Given the description of an element on the screen output the (x, y) to click on. 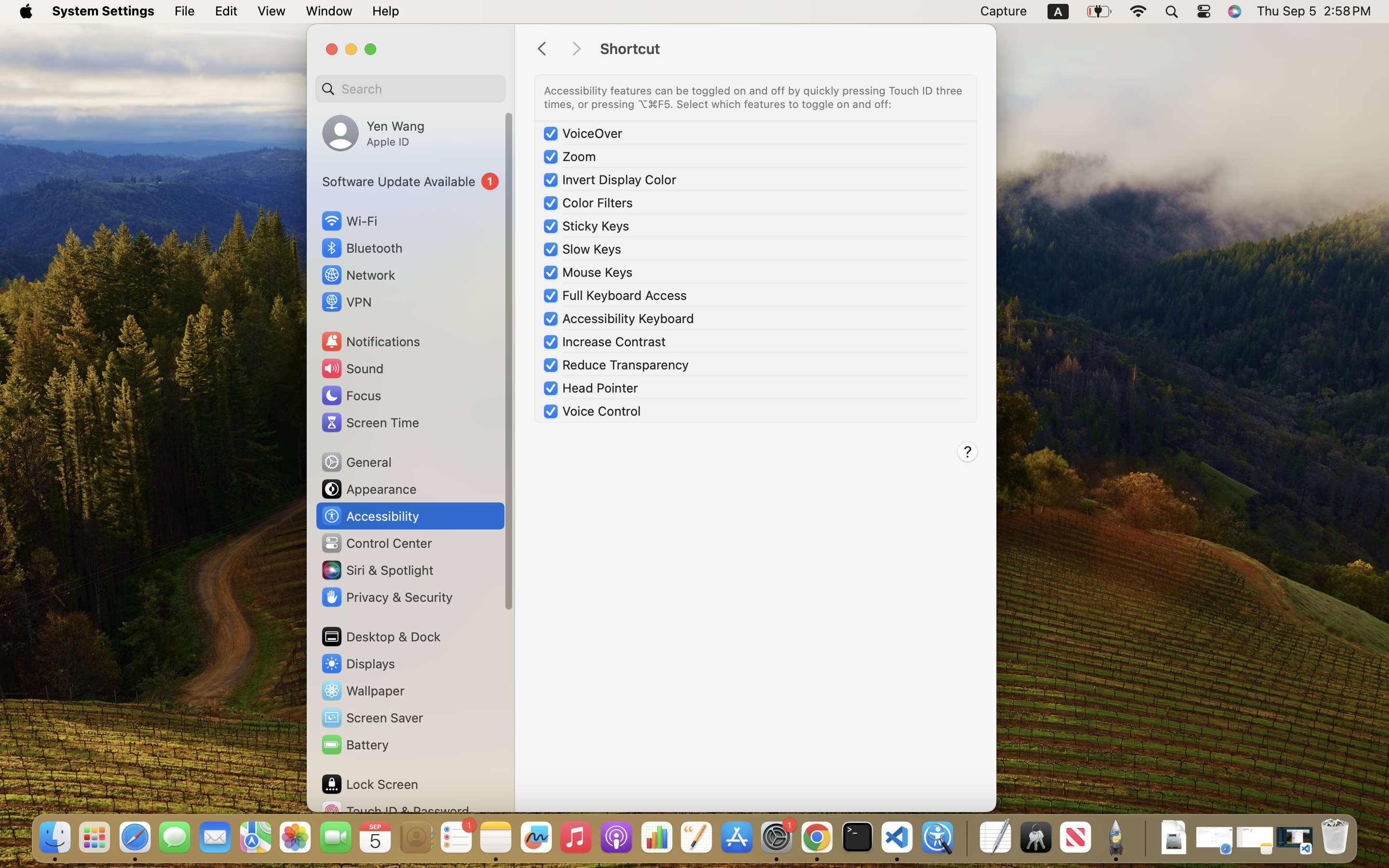
Desktop & Dock Element type: AXStaticText (380, 636)
Siri & Spotlight Element type: AXStaticText (376, 569)
VPN Element type: AXStaticText (345, 301)
Wallpaper Element type: AXStaticText (362, 690)
